Given the description of an element on the screen output the (x, y) to click on. 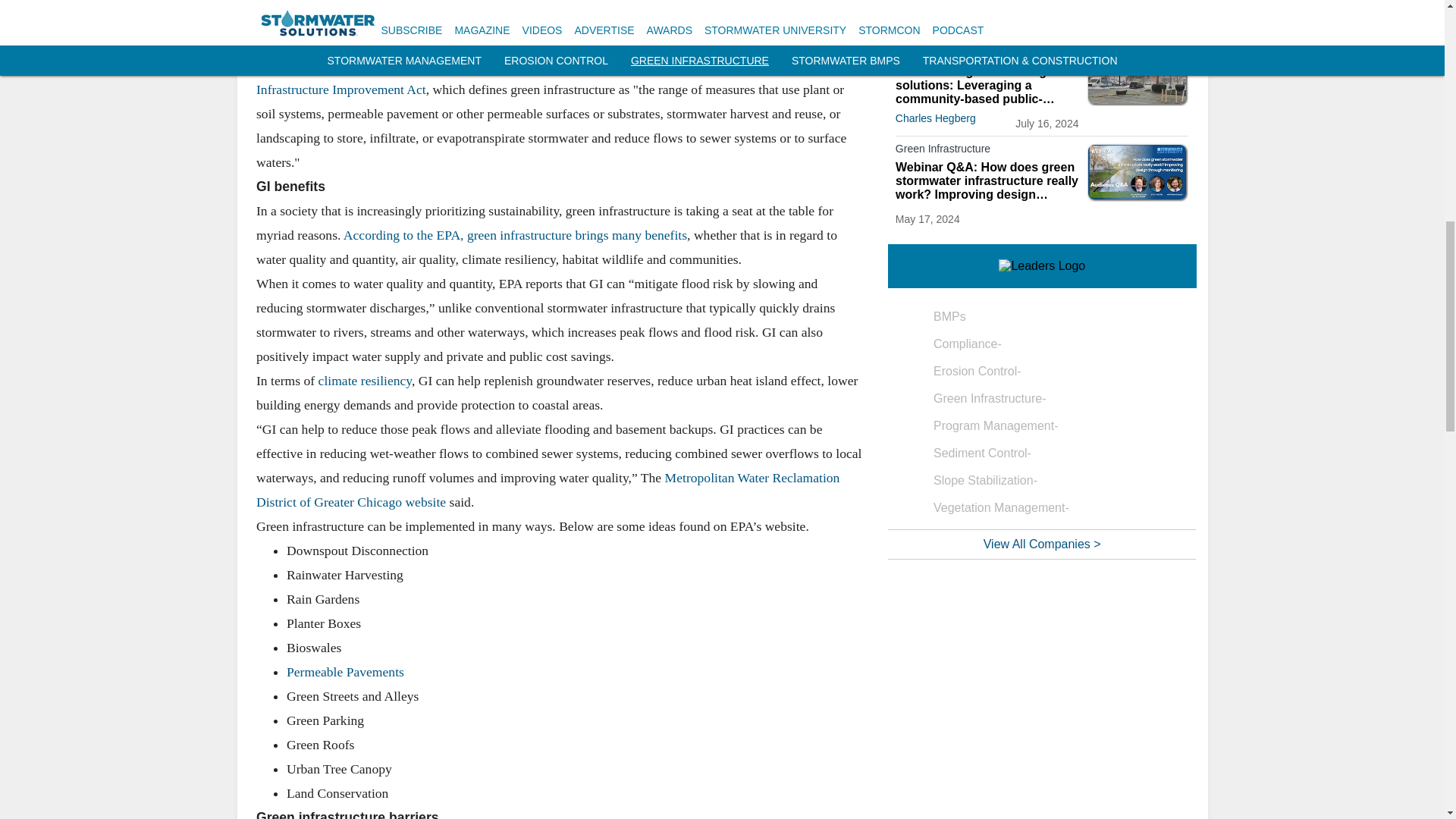
climate resiliency (363, 379)
Permeable Pavements  (346, 670)
Water Infrastructure Improvement Act (531, 76)
